Given the description of an element on the screen output the (x, y) to click on. 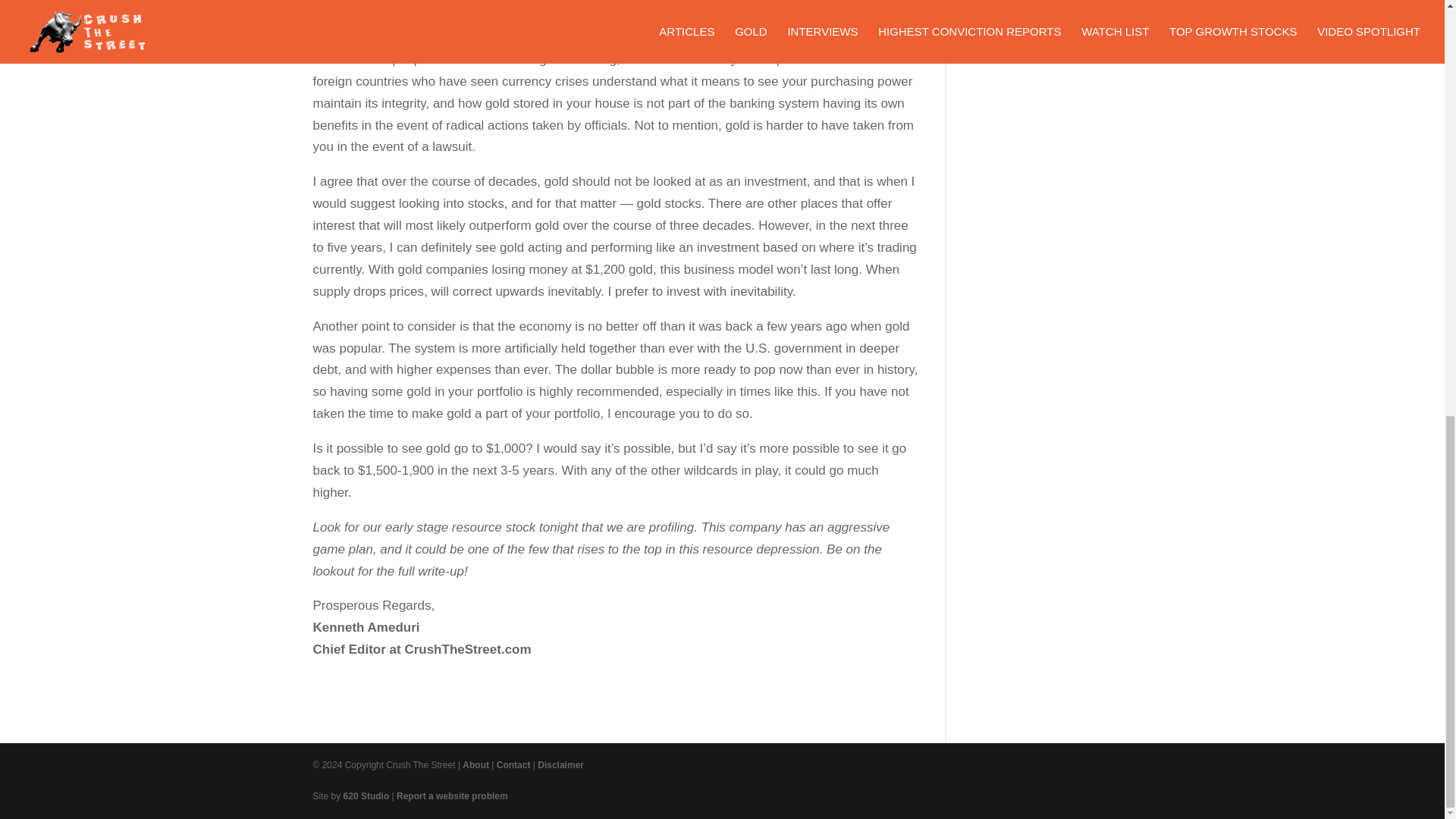
620 Studio (366, 796)
Contact (513, 765)
Report a website problem (452, 796)
Disclaimer (560, 765)
About (476, 765)
